Given the description of an element on the screen output the (x, y) to click on. 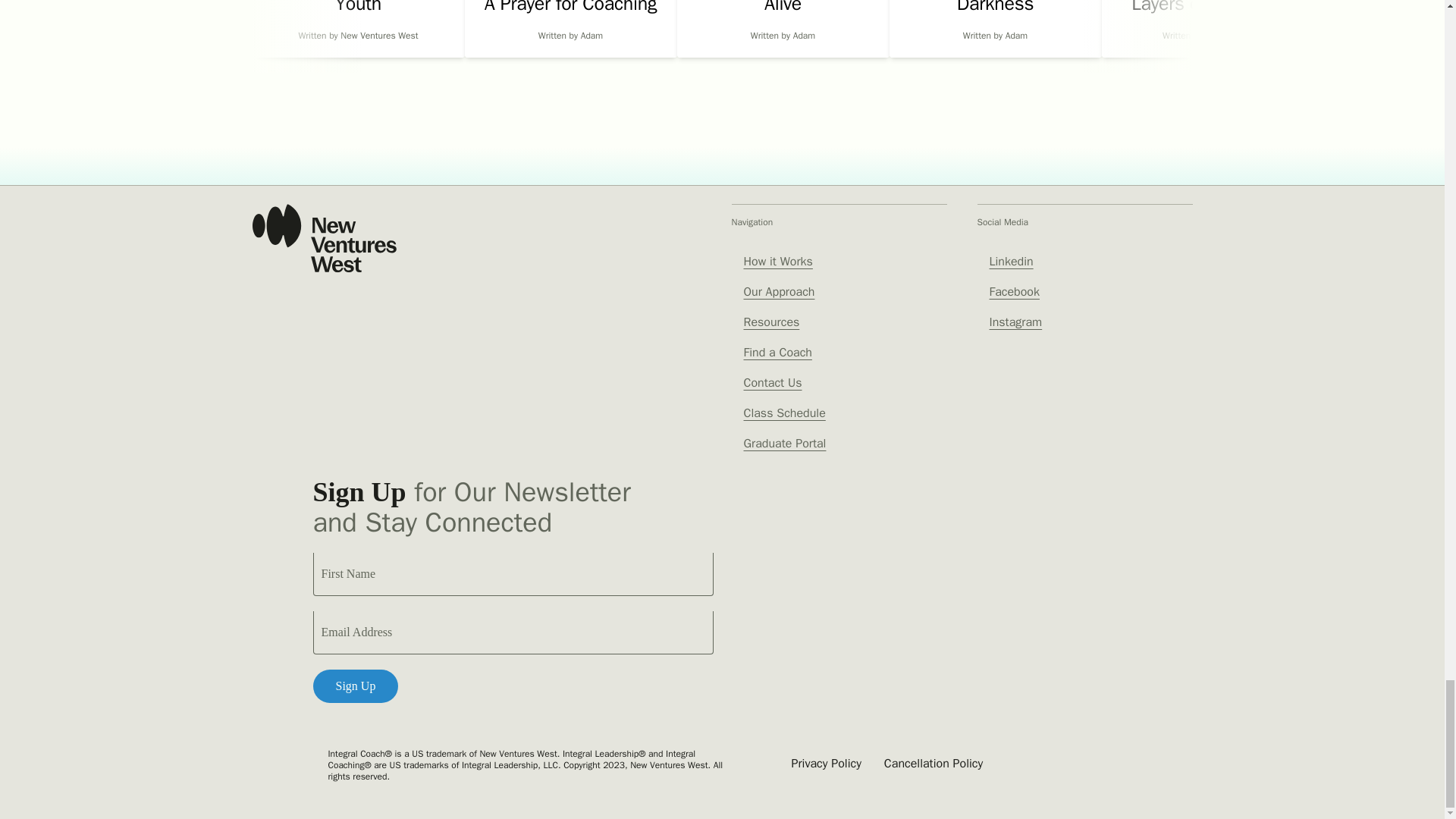
Sign Up (355, 685)
